Given the description of an element on the screen output the (x, y) to click on. 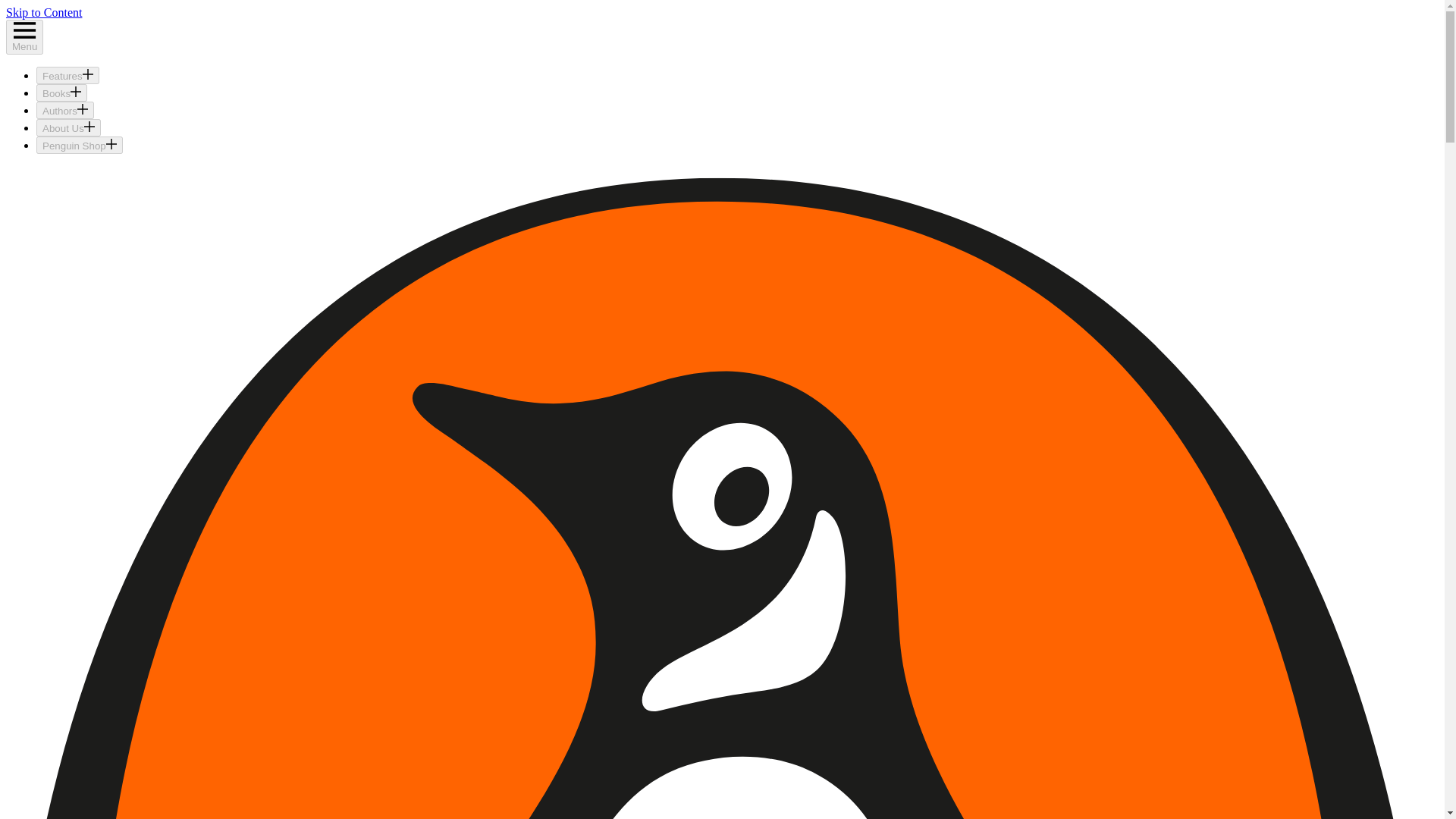
Books (61, 92)
Penguin Shop (79, 144)
Features (67, 75)
Skip to Content (43, 11)
About Us (68, 127)
Authors (65, 109)
Menu (24, 36)
